Given the description of an element on the screen output the (x, y) to click on. 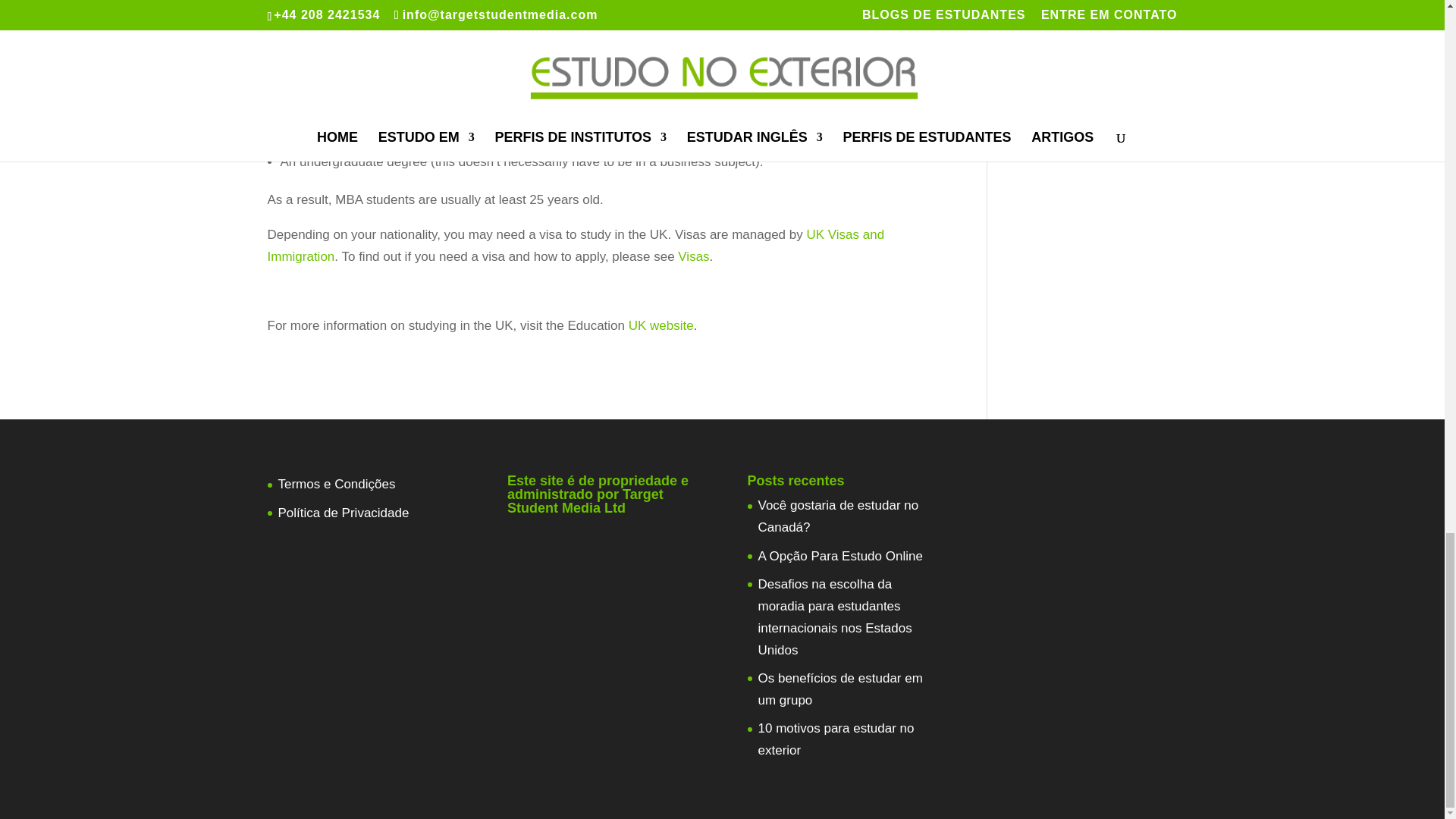
Visas (693, 256)
UK website (661, 325)
UK Visas and Immigration (574, 245)
